Given the description of an element on the screen output the (x, y) to click on. 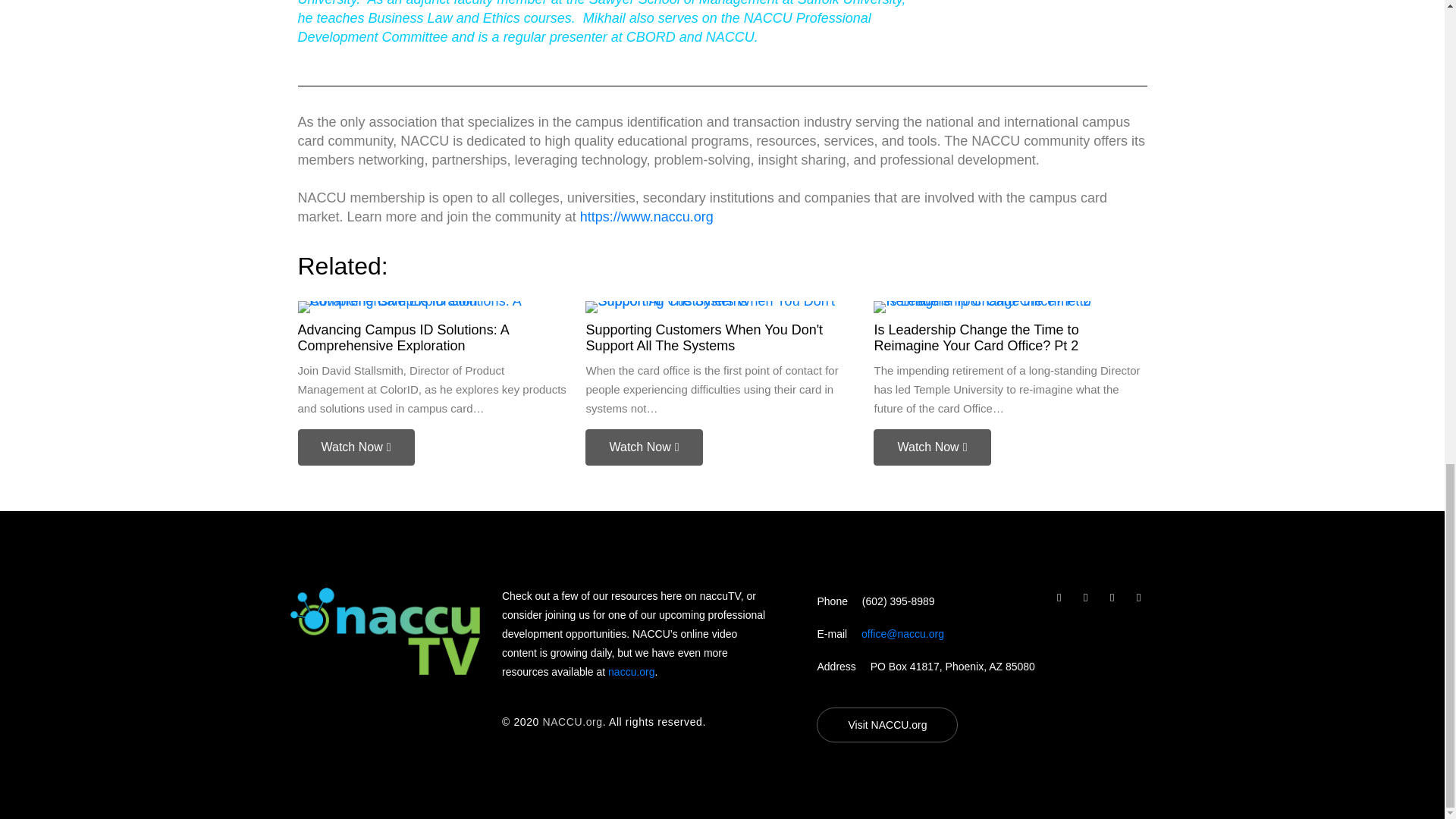
Watch Now (355, 447)
Advancing Campus ID Solutions: A Comprehensive Exploration (402, 337)
